Given the description of an element on the screen output the (x, y) to click on. 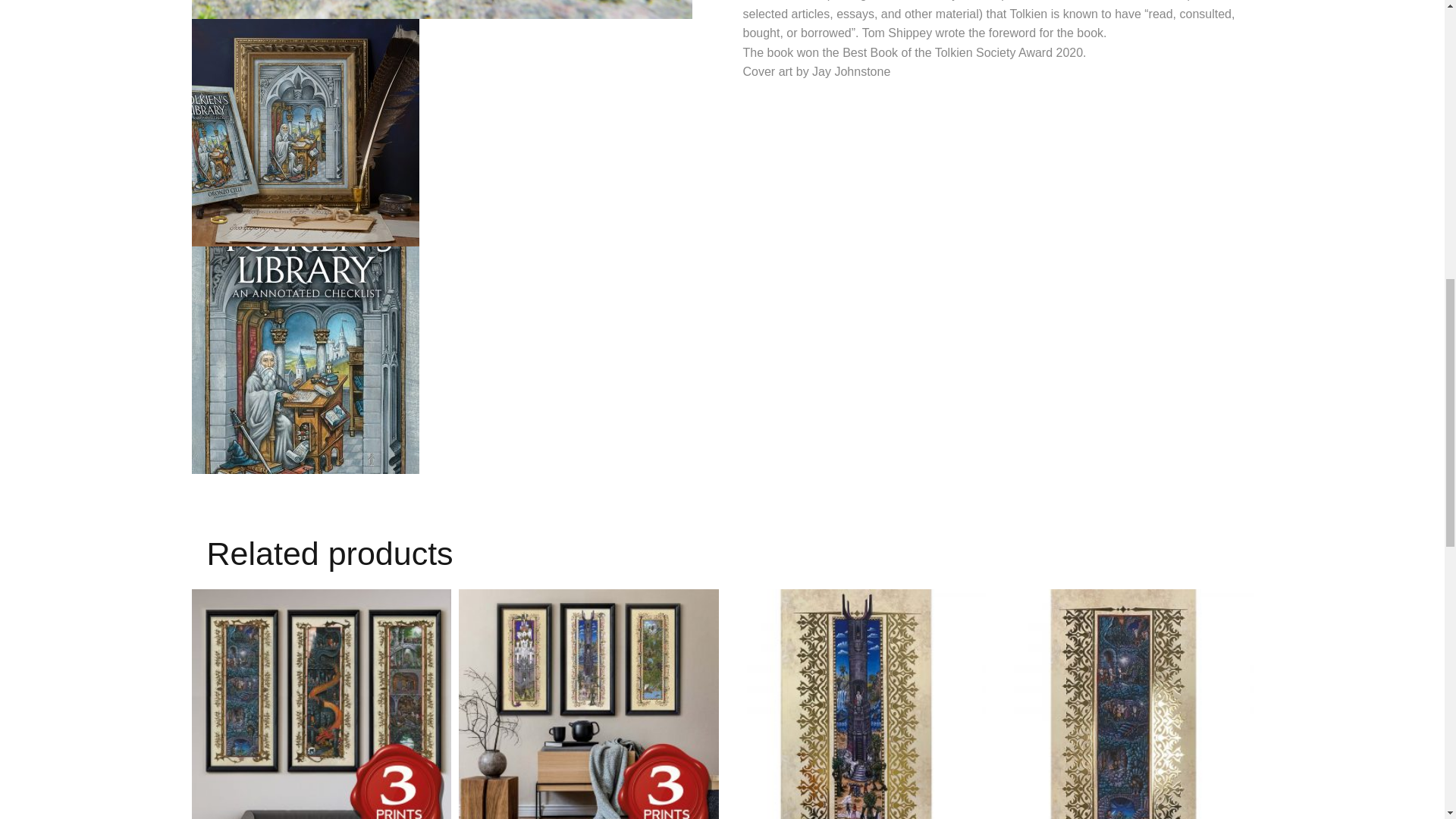
Gandalf in the Library (304, 132)
Hern-book-woods-SM (440, 9)
